Given the description of an element on the screen output the (x, y) to click on. 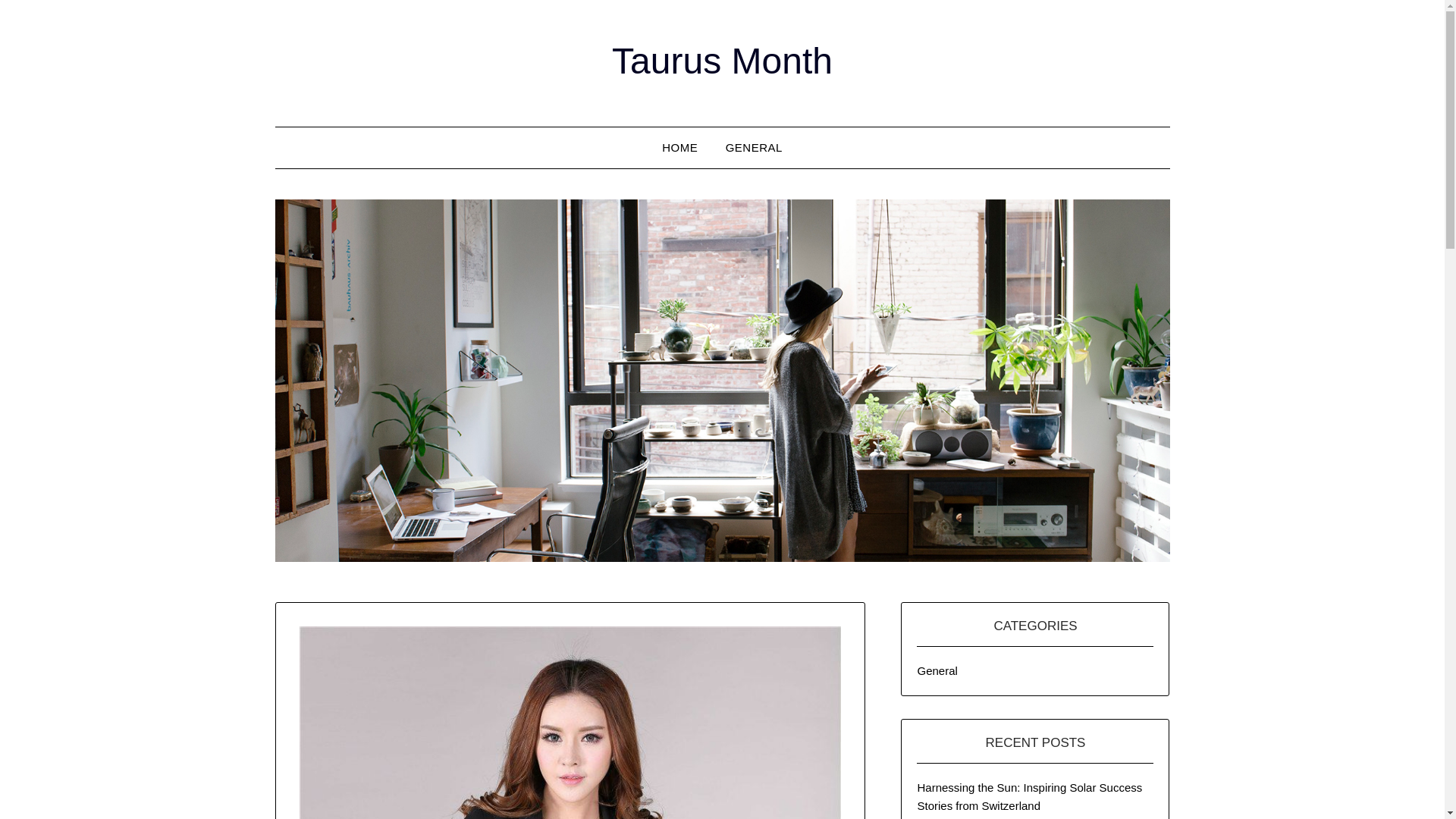
GENERAL (753, 147)
General (936, 670)
HOME (679, 147)
Taurus Month (721, 60)
